Given the description of an element on the screen output the (x, y) to click on. 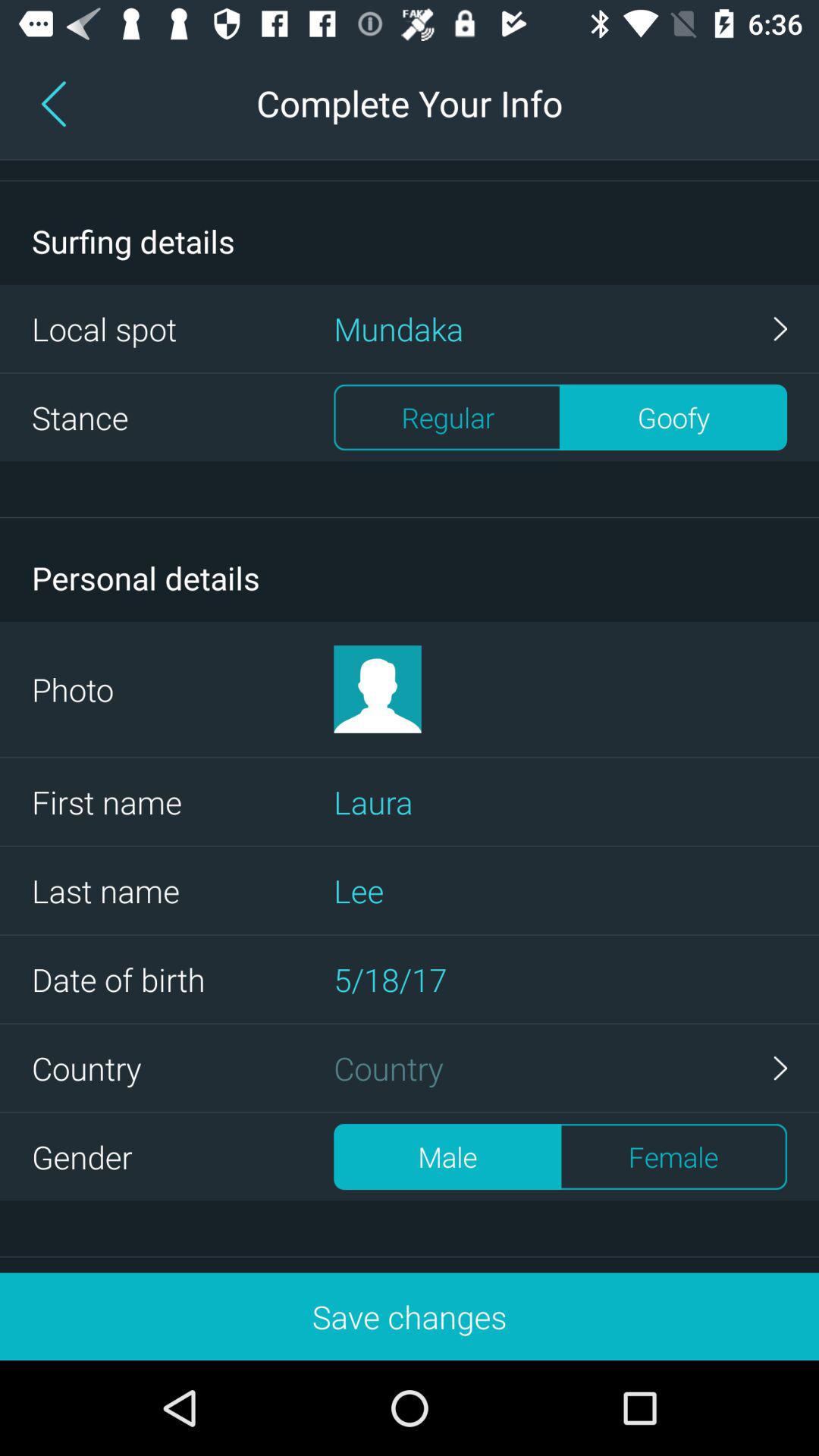
go back (57, 103)
